Given the description of an element on the screen output the (x, y) to click on. 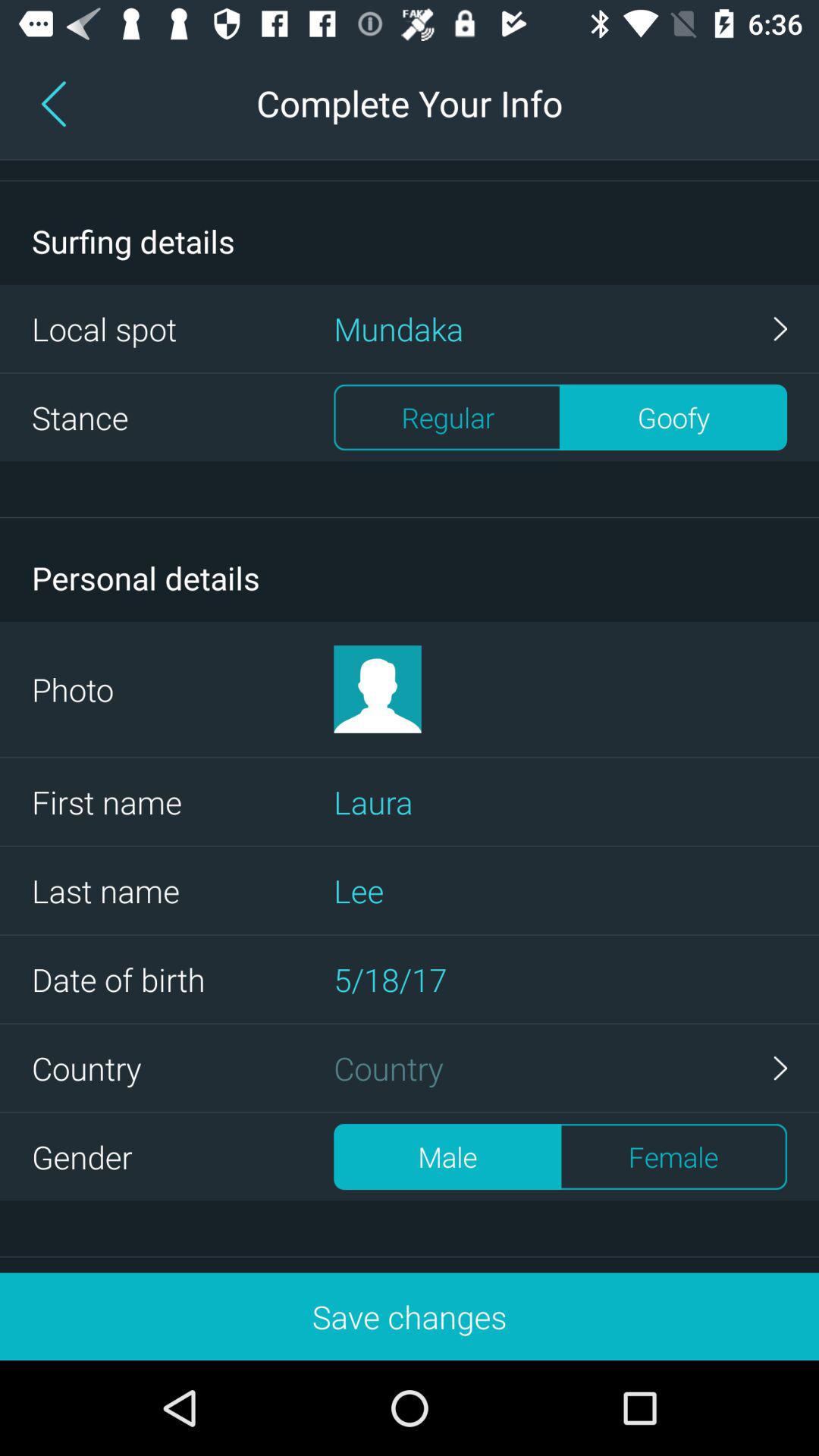
go back (57, 103)
